Given the description of an element on the screen output the (x, y) to click on. 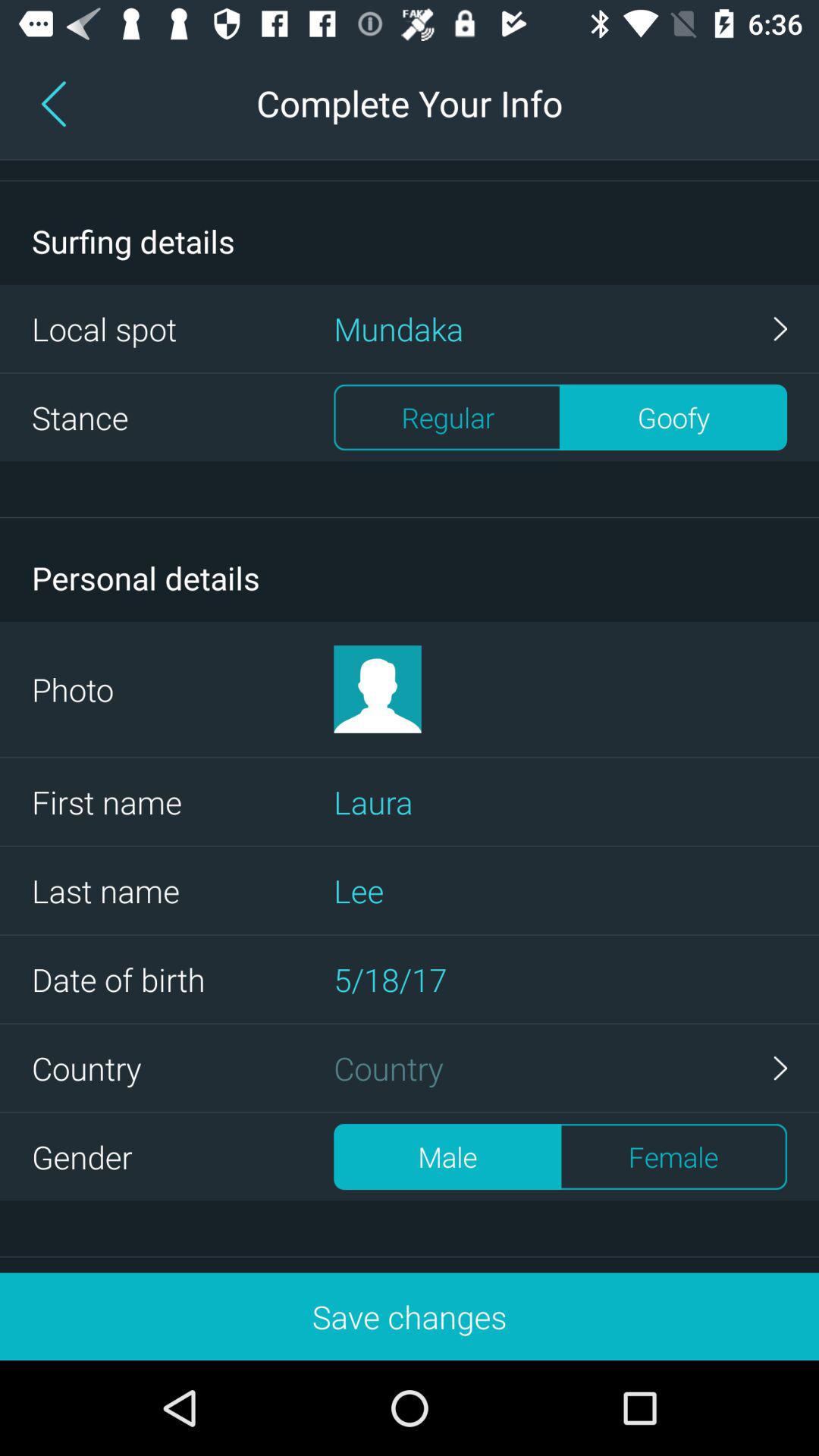
go back (57, 103)
